Given the description of an element on the screen output the (x, y) to click on. 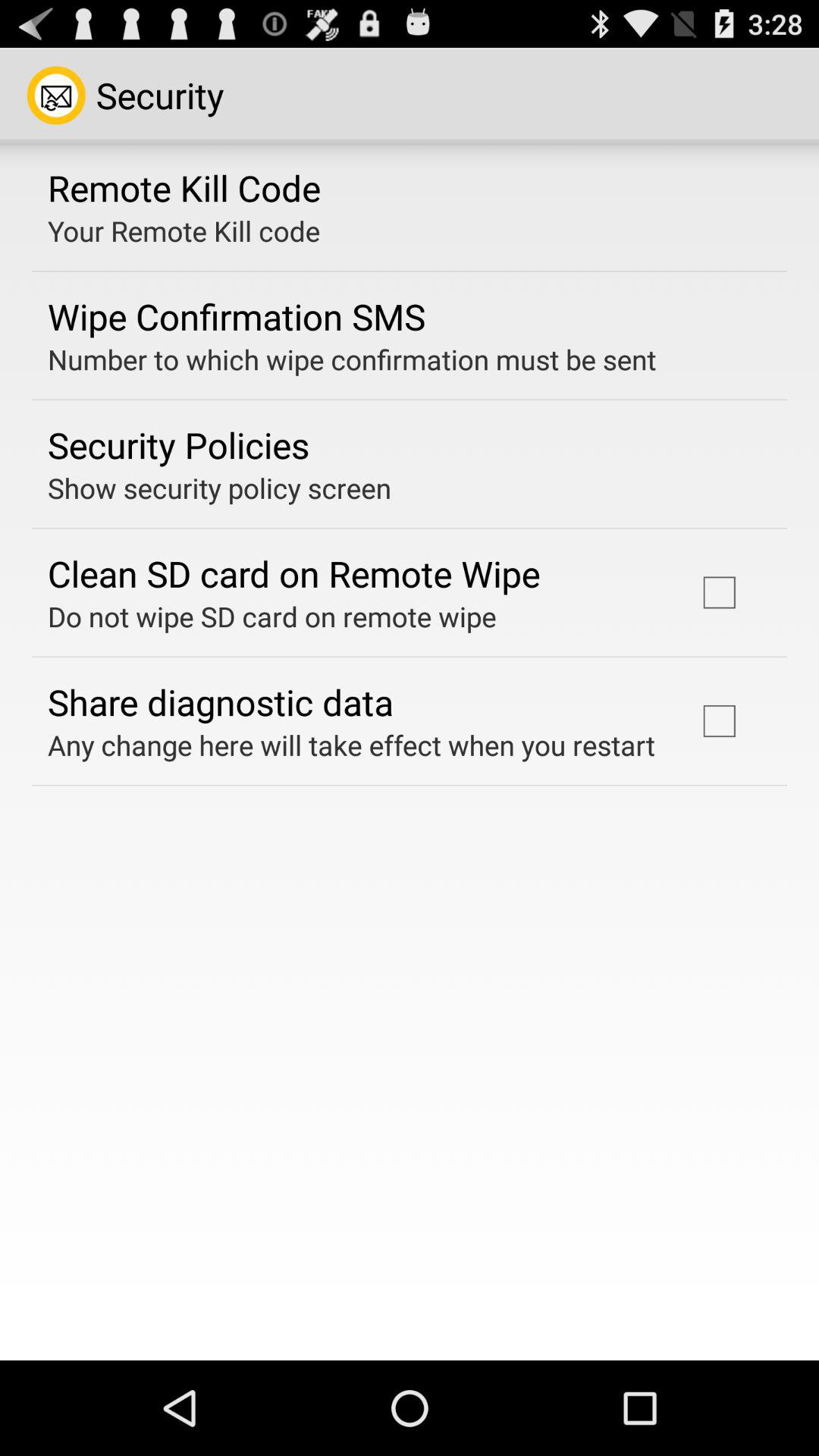
launch the item above any change here app (220, 701)
